Given the description of an element on the screen output the (x, y) to click on. 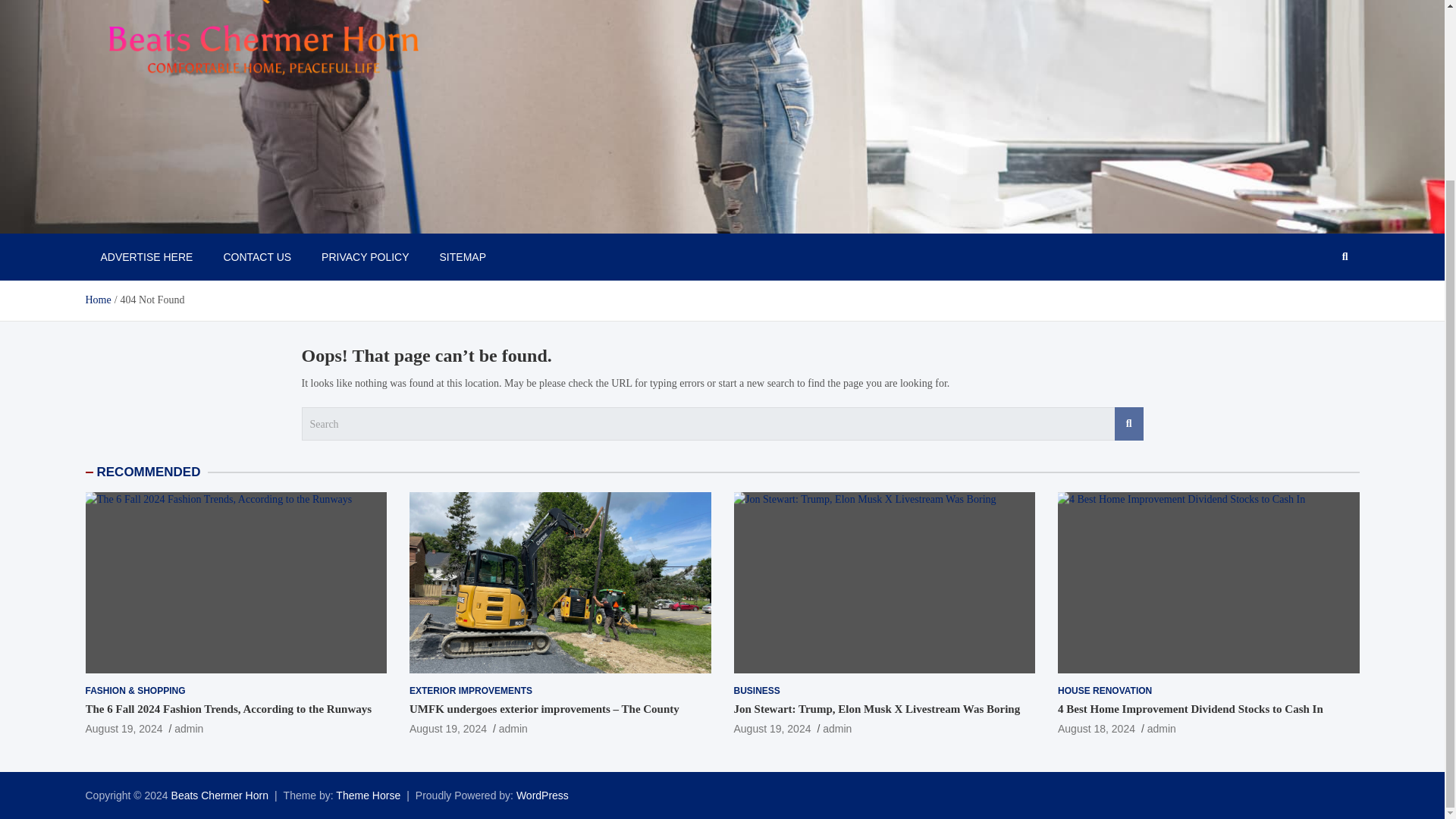
BUSINESS (756, 690)
ADVERTISE HERE (146, 256)
PRIVACY POLICY (364, 256)
EXTERIOR IMPROVEMENTS (470, 690)
August 19, 2024 (771, 728)
August 18, 2024 (1096, 728)
WordPress (542, 795)
4 Best Home Improvement Dividend Stocks to Cash In (1207, 582)
Beats Chermer Horn (219, 795)
SITEMAP (462, 256)
